Given the description of an element on the screen output the (x, y) to click on. 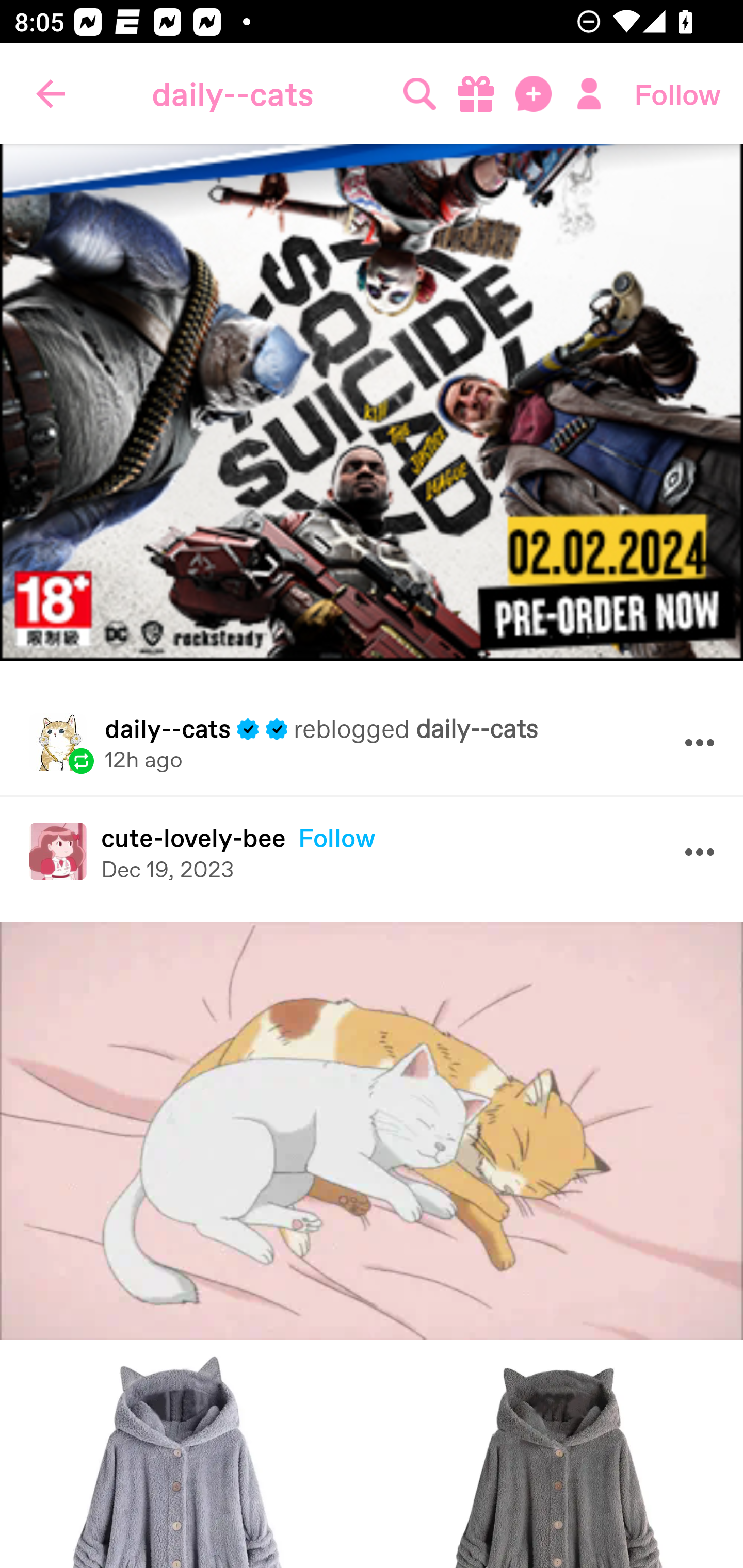
Messages (535, 93)
Follow (677, 93)
